Given the description of an element on the screen output the (x, y) to click on. 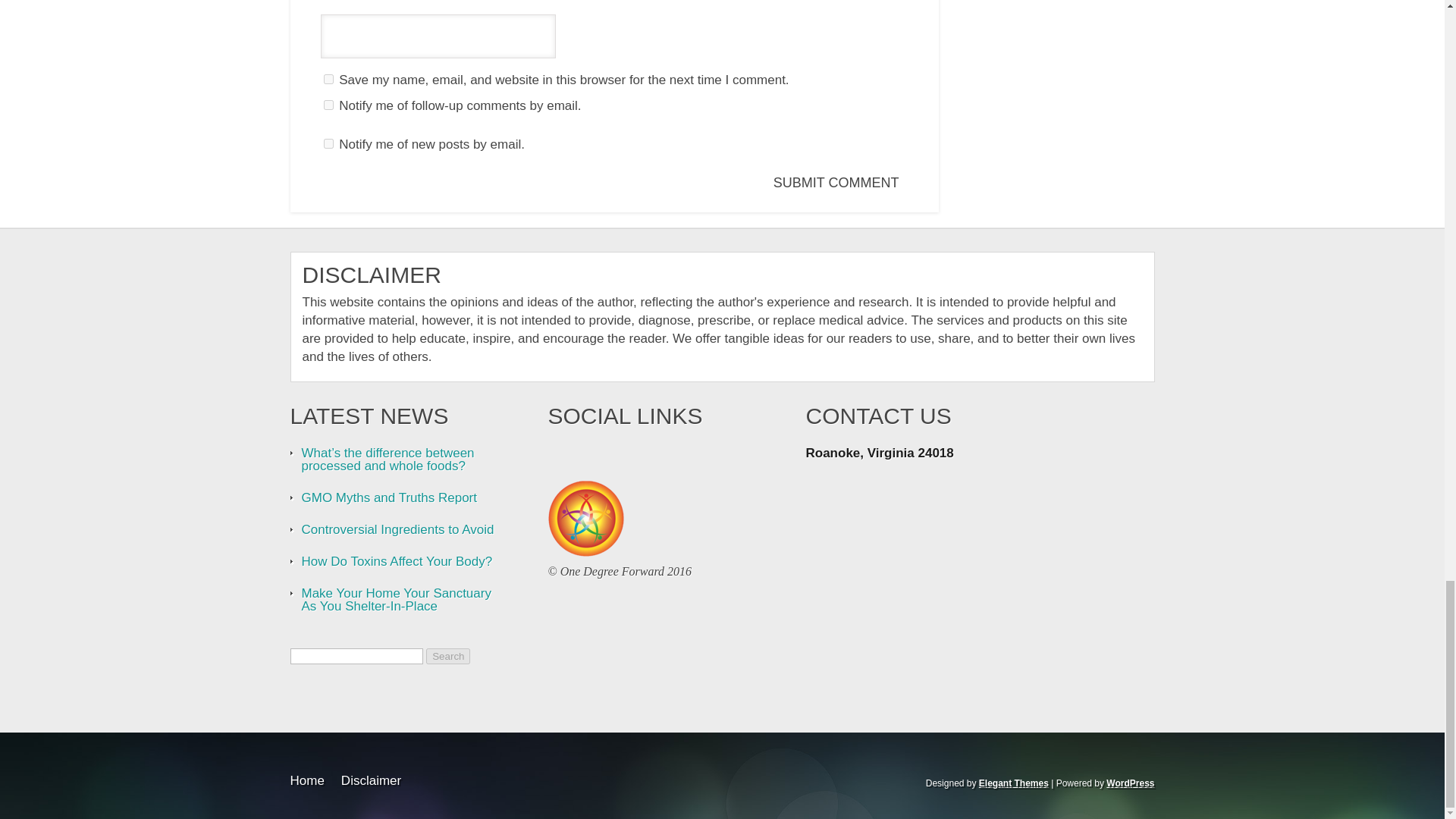
subscribe (328, 143)
Search (448, 656)
yes (328, 79)
Premium WordPress Themes (1013, 783)
subscribe (328, 104)
Submit Comment (838, 182)
